Given the description of an element on the screen output the (x, y) to click on. 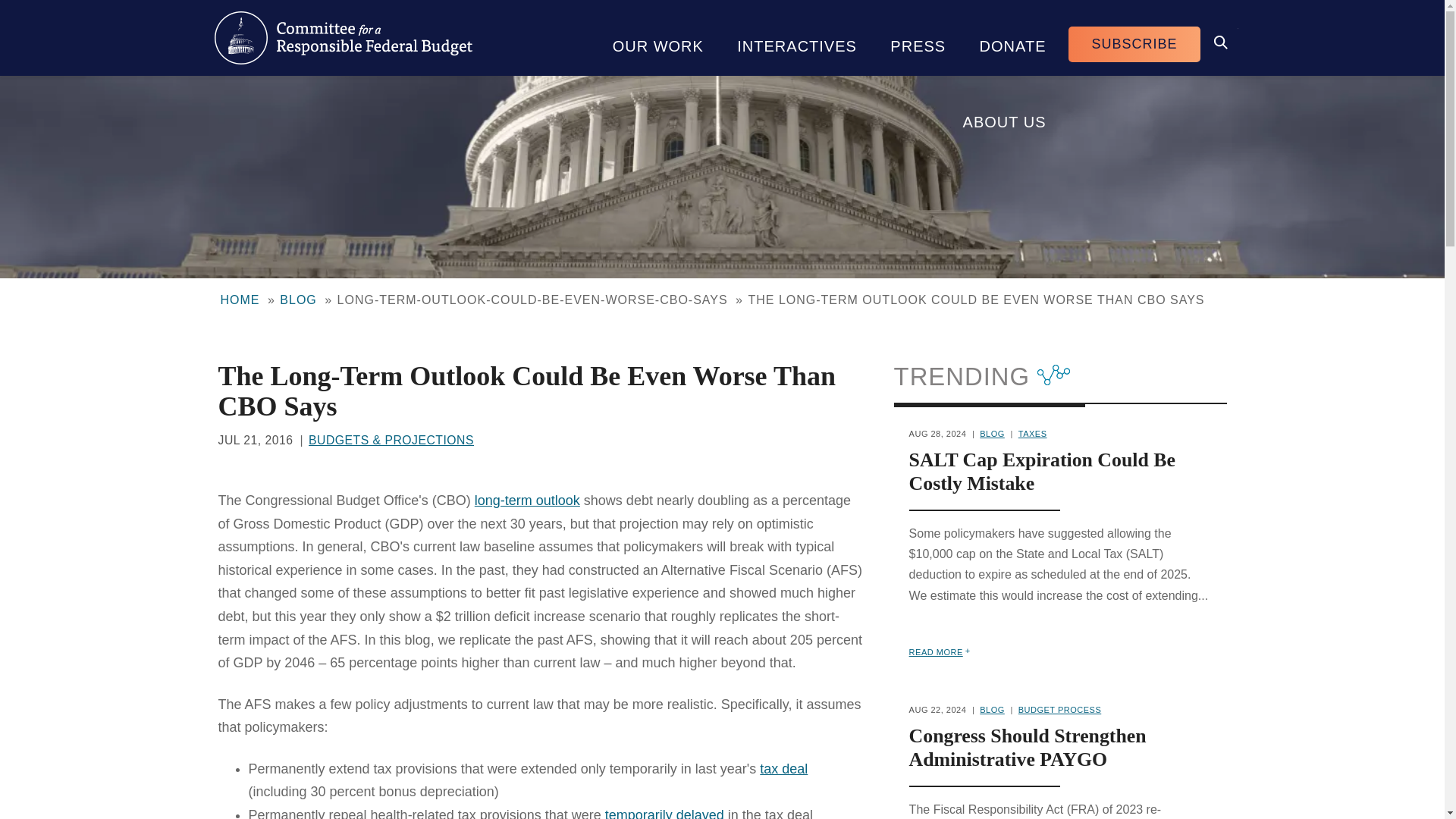
ABOUT US (1004, 113)
DONATE (1012, 38)
OUR WORK (657, 38)
PRESS (917, 38)
Committee for a Responsible Federal Budget (342, 37)
INTERACTIVES (797, 38)
